Given the description of an element on the screen output the (x, y) to click on. 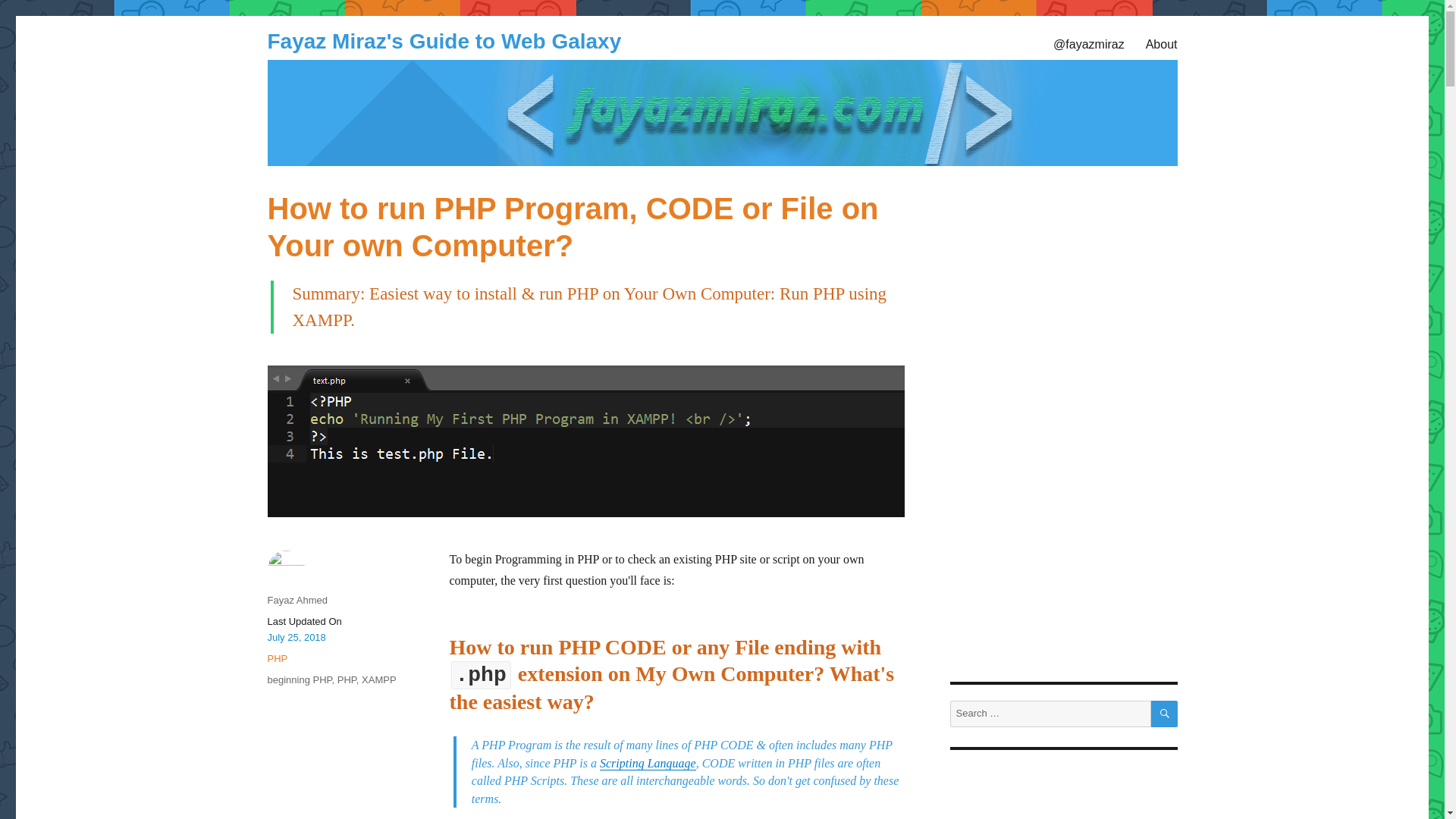
Advertisement (330, 757)
Follow me on Twitter (1088, 43)
Scripting Language (647, 762)
PHP (346, 679)
PHP (276, 658)
beginning PHP (298, 679)
July 25, 2018 (295, 636)
Fayaz Miraz's Guide to Web Galaxy (443, 41)
About (1161, 43)
Fayaz Ahmed (296, 600)
XAMPP (378, 679)
